Given the description of an element on the screen output the (x, y) to click on. 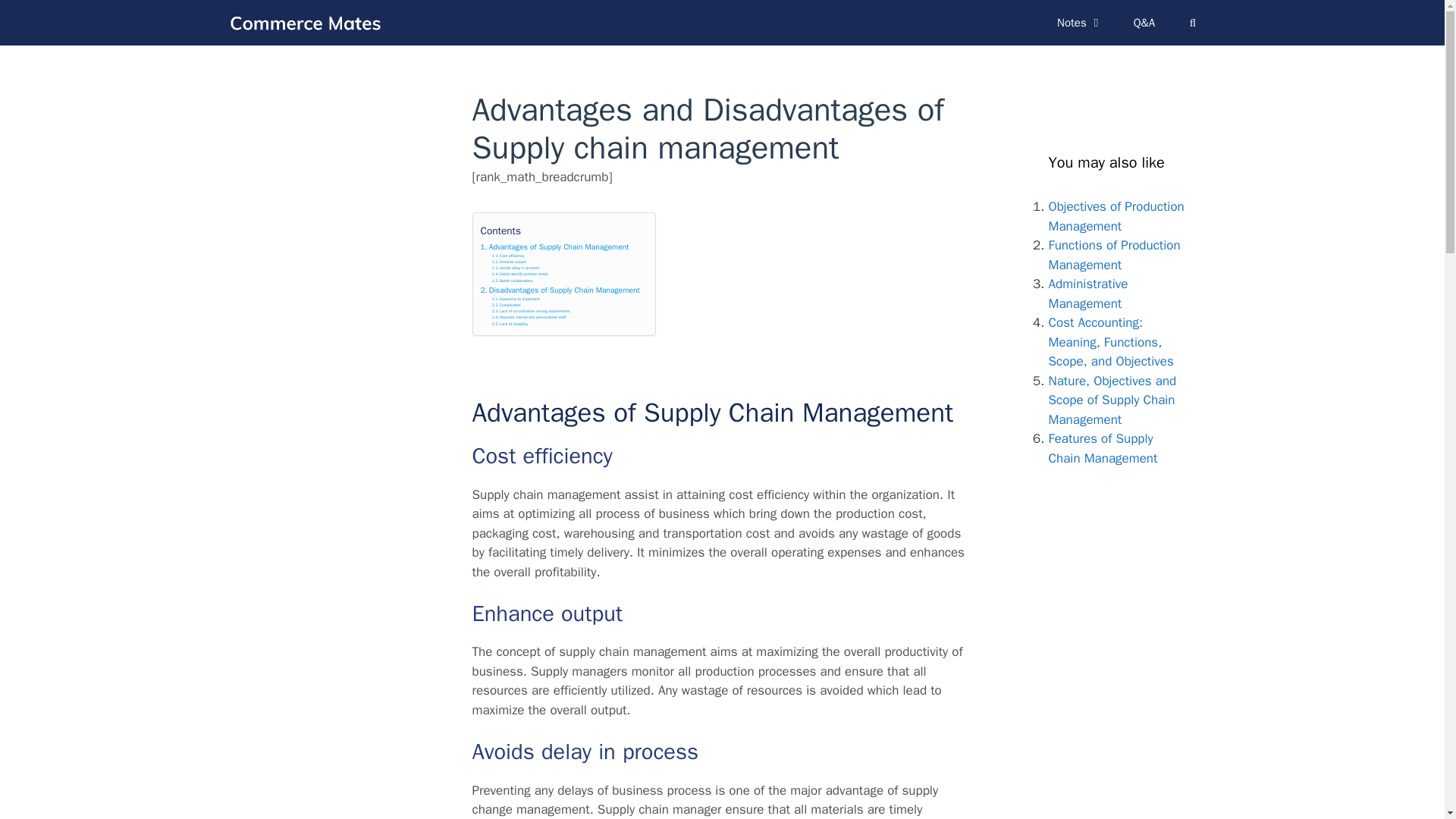
Expensive to implement (516, 299)
Easily identify problem areas (520, 274)
Disadvantages of Supply Chain Management (560, 290)
Lack of co-ordination among departments (531, 311)
Requires trained and personalized staff (529, 317)
Enhance output (508, 262)
CommerceMates (308, 22)
CommerceMates (304, 22)
Complicated (506, 305)
Notes (1080, 22)
